Given the description of an element on the screen output the (x, y) to click on. 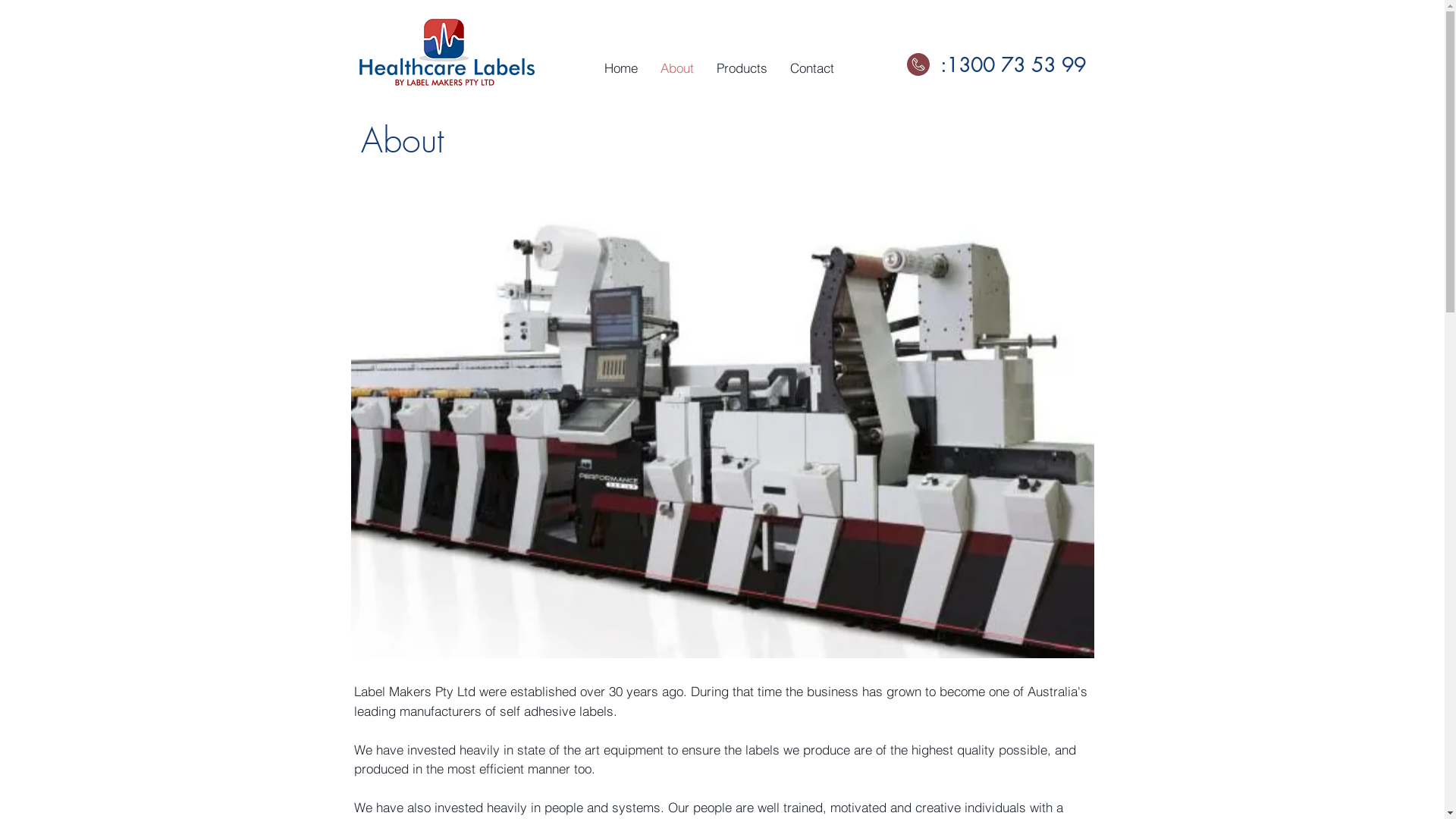
Contact Element type: text (811, 68)
:1300 73 53 99 Element type: text (1012, 65)
Home Element type: text (621, 68)
Products Element type: text (741, 68)
About Element type: text (677, 68)
